Given the description of an element on the screen output the (x, y) to click on. 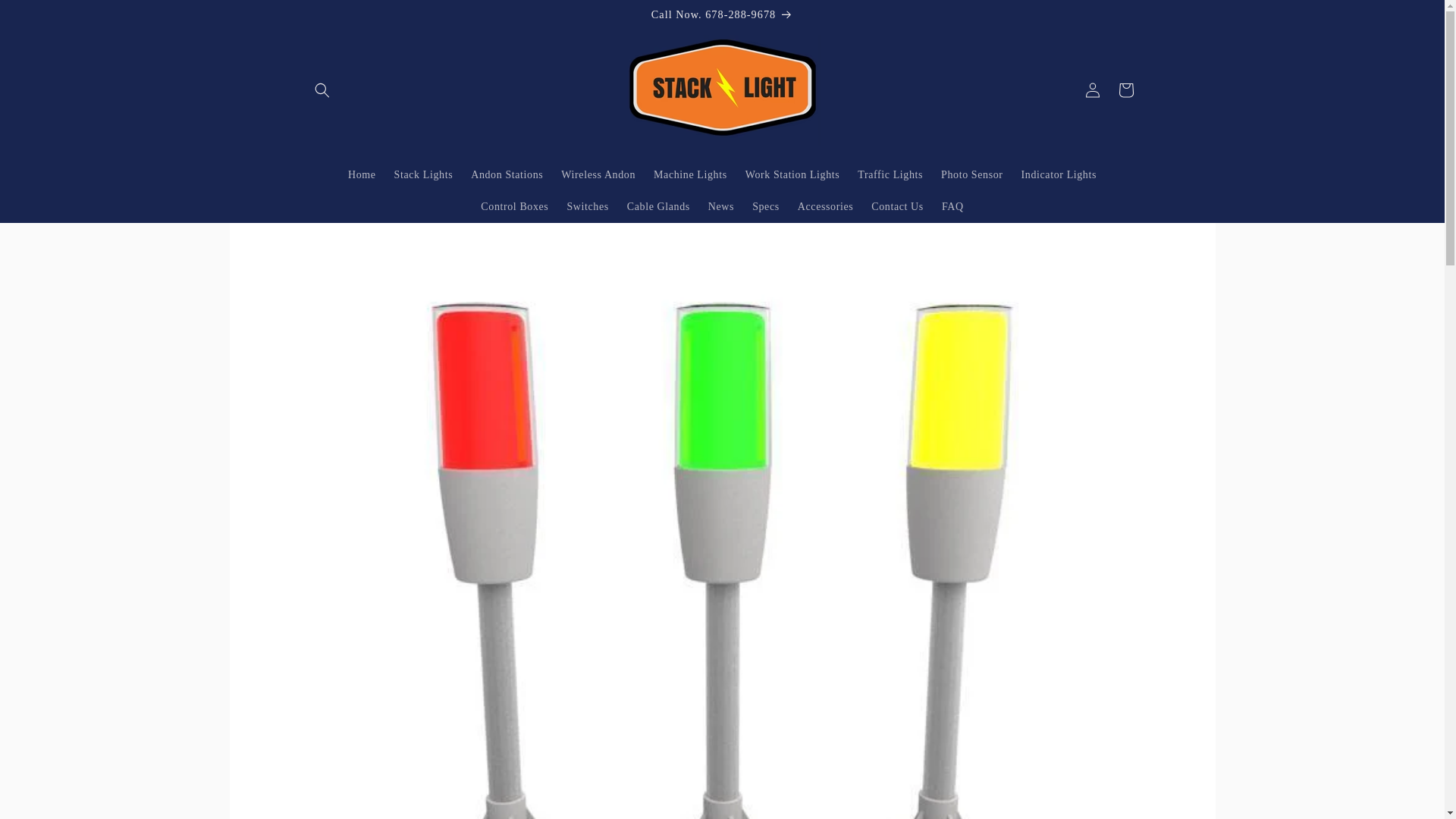
Indicator Lights (1058, 174)
Stack Lights (424, 174)
Wireless Andon (598, 174)
Machine Lights (690, 174)
Work Station Lights (792, 174)
Home (362, 174)
Accessories (825, 206)
News (720, 206)
Traffic Lights (889, 174)
Skip to content (45, 17)
Control Boxes (514, 206)
Call Now. 678-288-9678 (721, 14)
Photo Sensor (971, 174)
Cable Glands (657, 206)
Switches (587, 206)
